Given the description of an element on the screen output the (x, y) to click on. 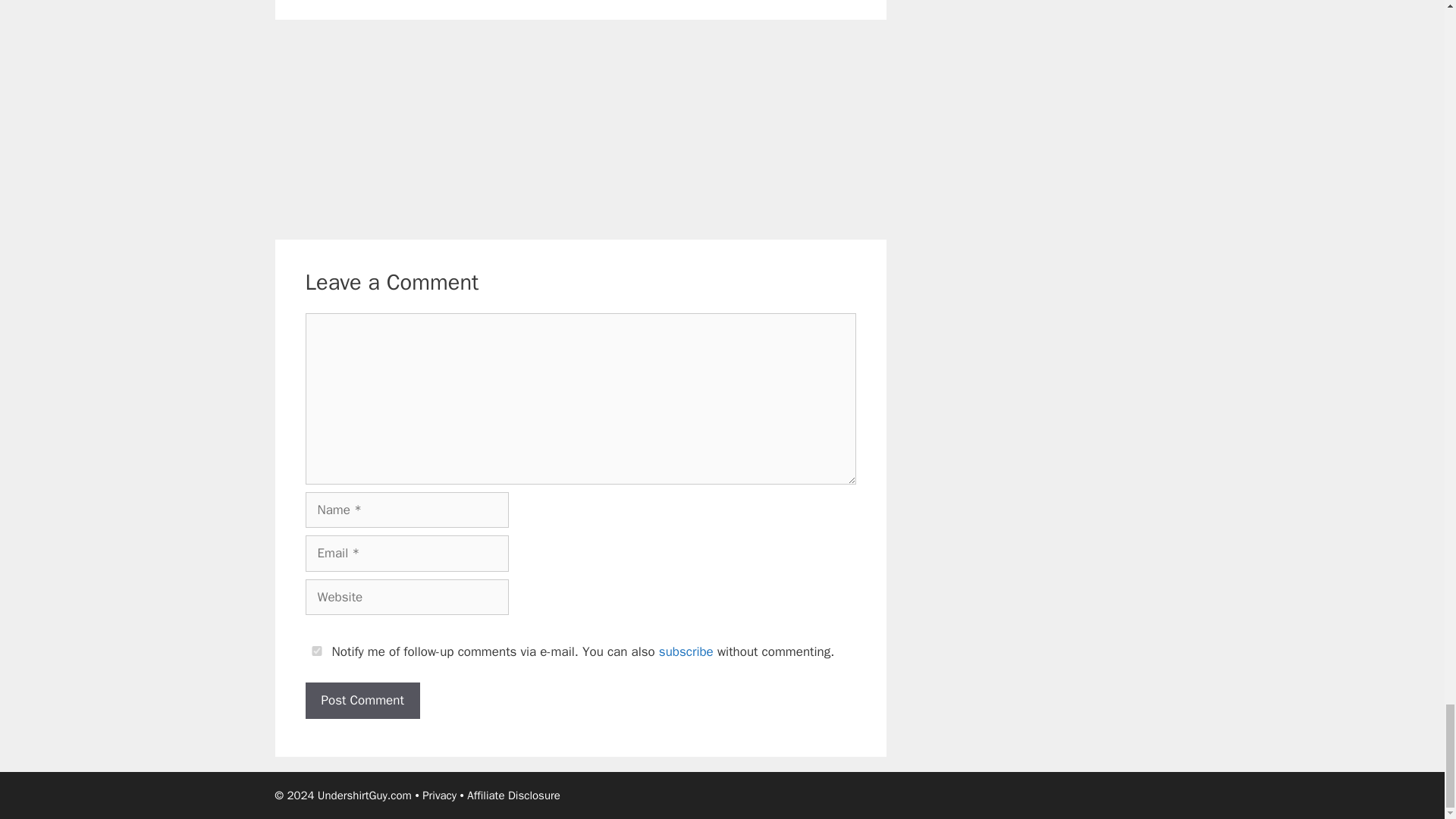
yes (315, 651)
Post Comment (361, 700)
